Given the description of an element on the screen output the (x, y) to click on. 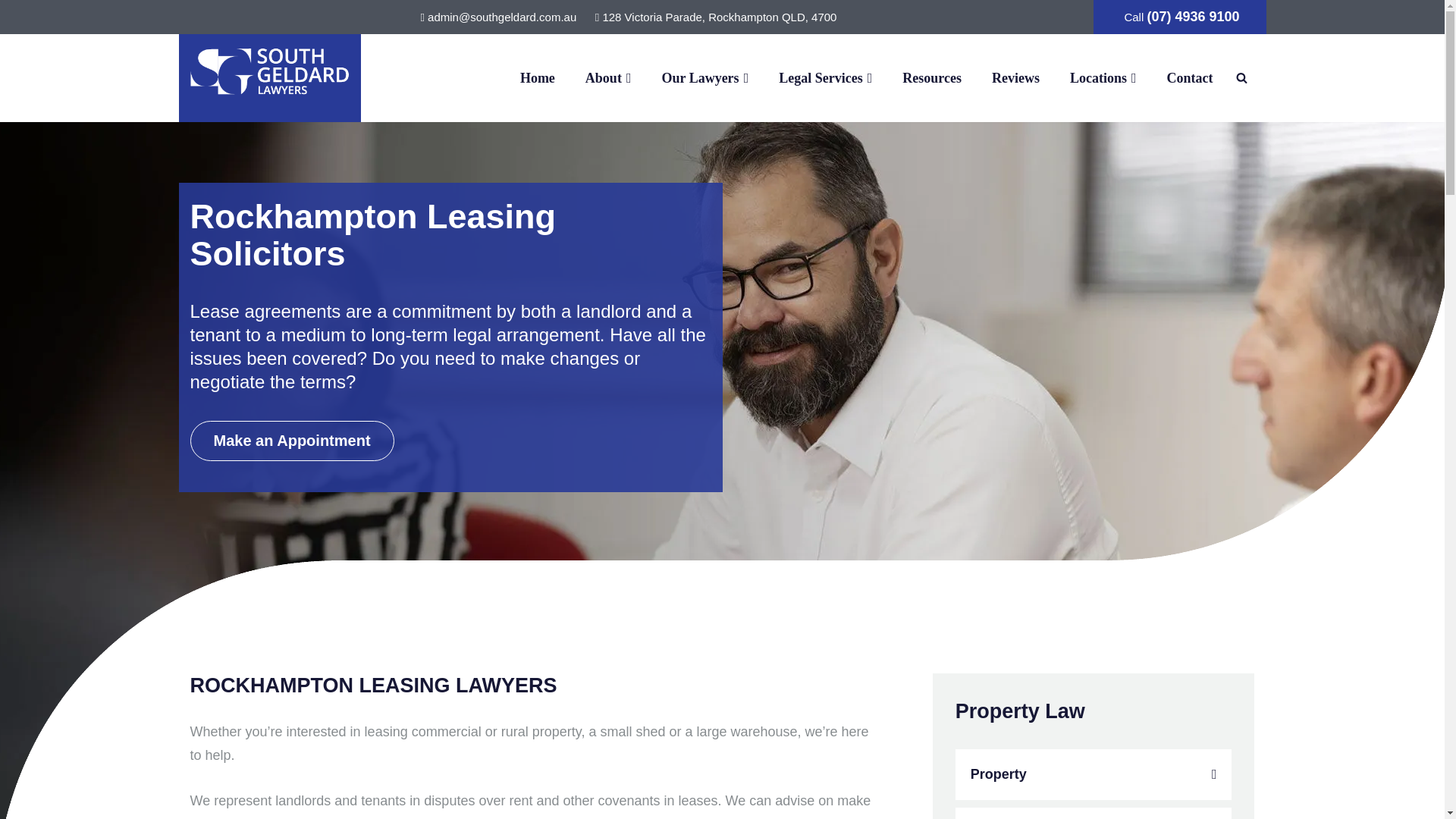
Reviews (1015, 78)
Locations (1102, 78)
Contact (1189, 78)
Legal Services (824, 78)
About (608, 78)
Skip to content (11, 31)
Our Lawyers (704, 78)
Resources (931, 78)
